Given the description of an element on the screen output the (x, y) to click on. 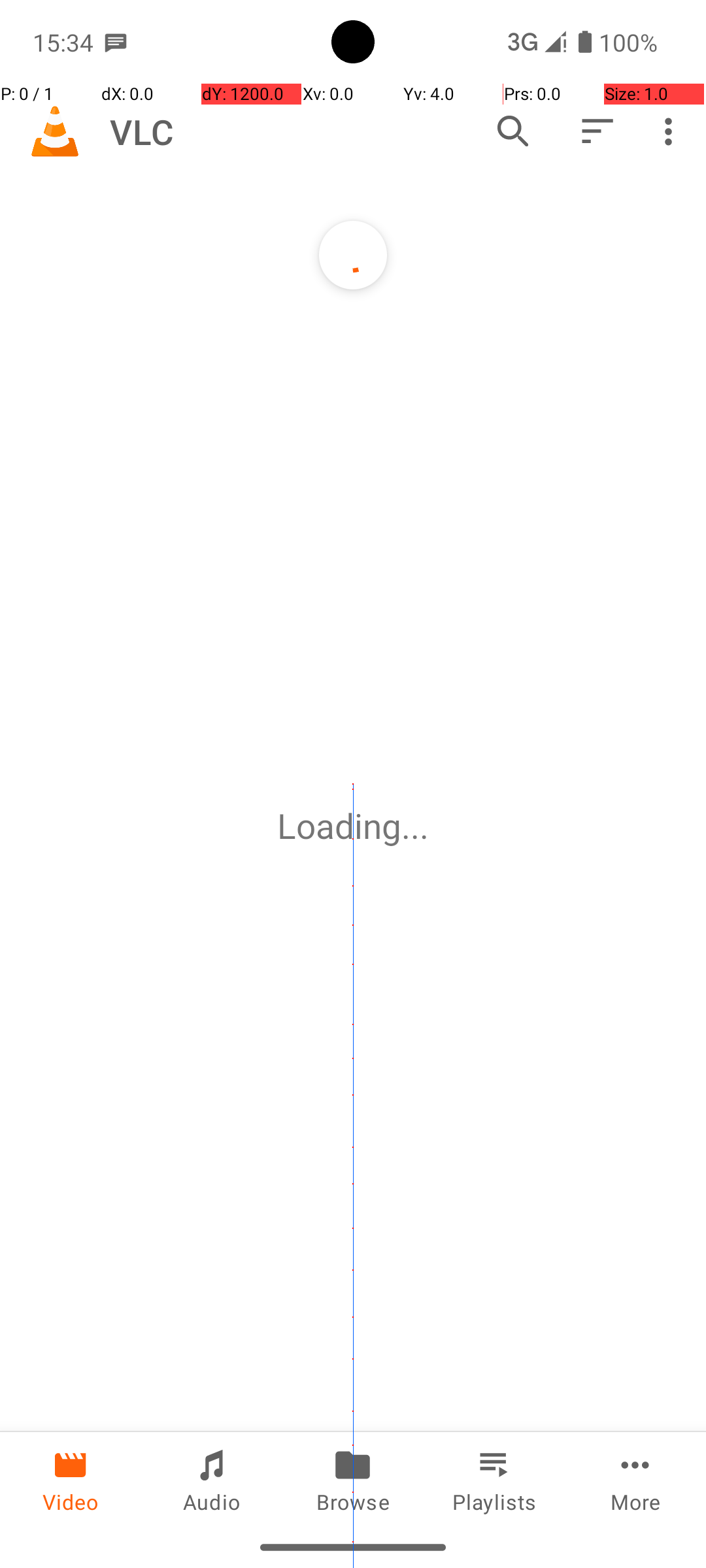
... Element type: android.widget.TextView (414, 825)
